Given the description of an element on the screen output the (x, y) to click on. 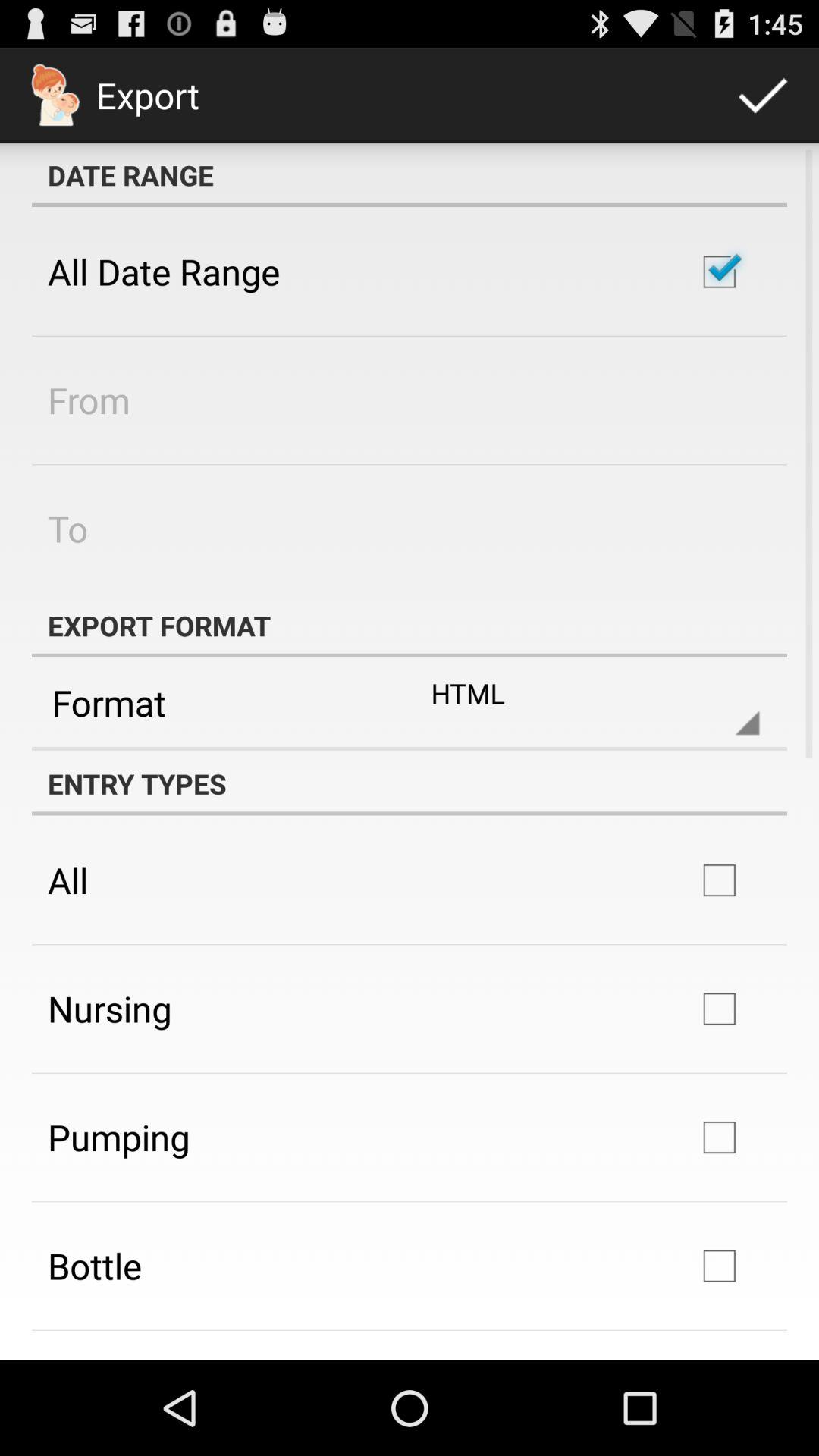
click export format app (409, 625)
